Given the description of an element on the screen output the (x, y) to click on. 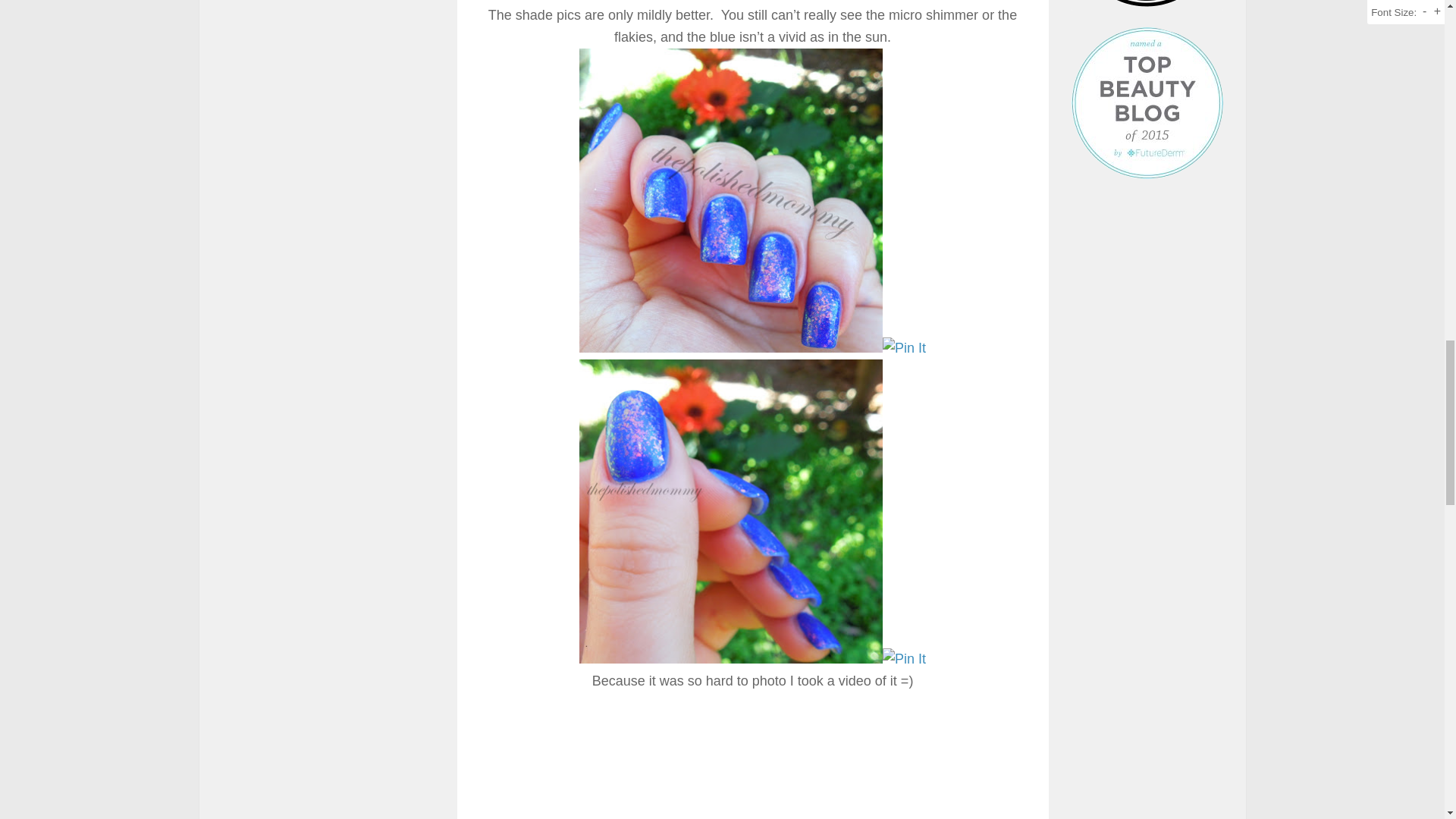
Pin It (904, 2)
Pin It (904, 348)
Pin It (904, 659)
